Given the description of an element on the screen output the (x, y) to click on. 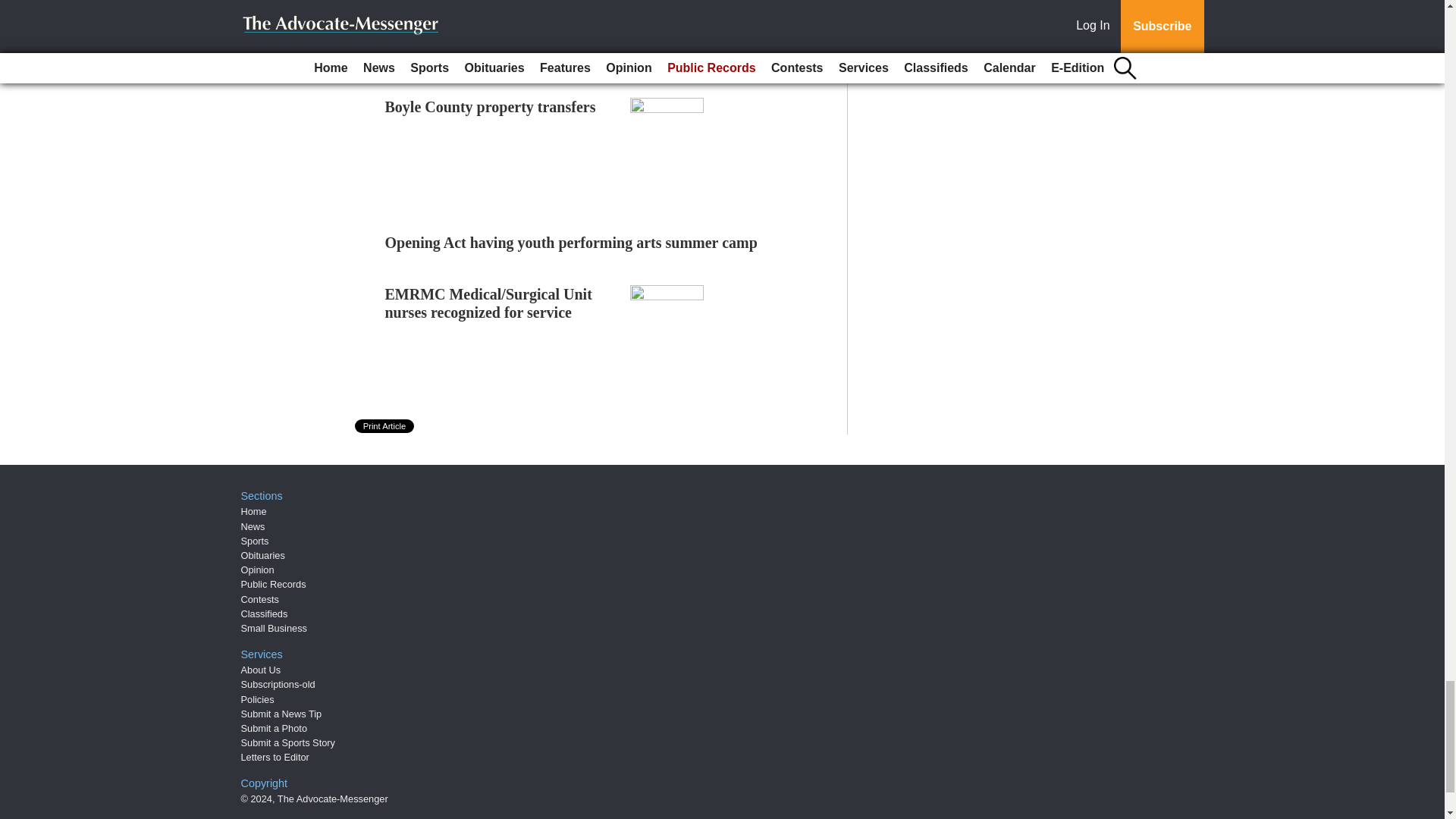
Sports (255, 541)
Boyle County property transfers (490, 106)
Opinion (258, 569)
Print Article (384, 426)
Obituaries (263, 555)
Boyle County property transfers (490, 106)
Opening Act having youth performing arts summer camp (571, 242)
Home (253, 511)
Opening Act having youth performing arts summer camp (571, 242)
News (252, 526)
